Given the description of an element on the screen output the (x, y) to click on. 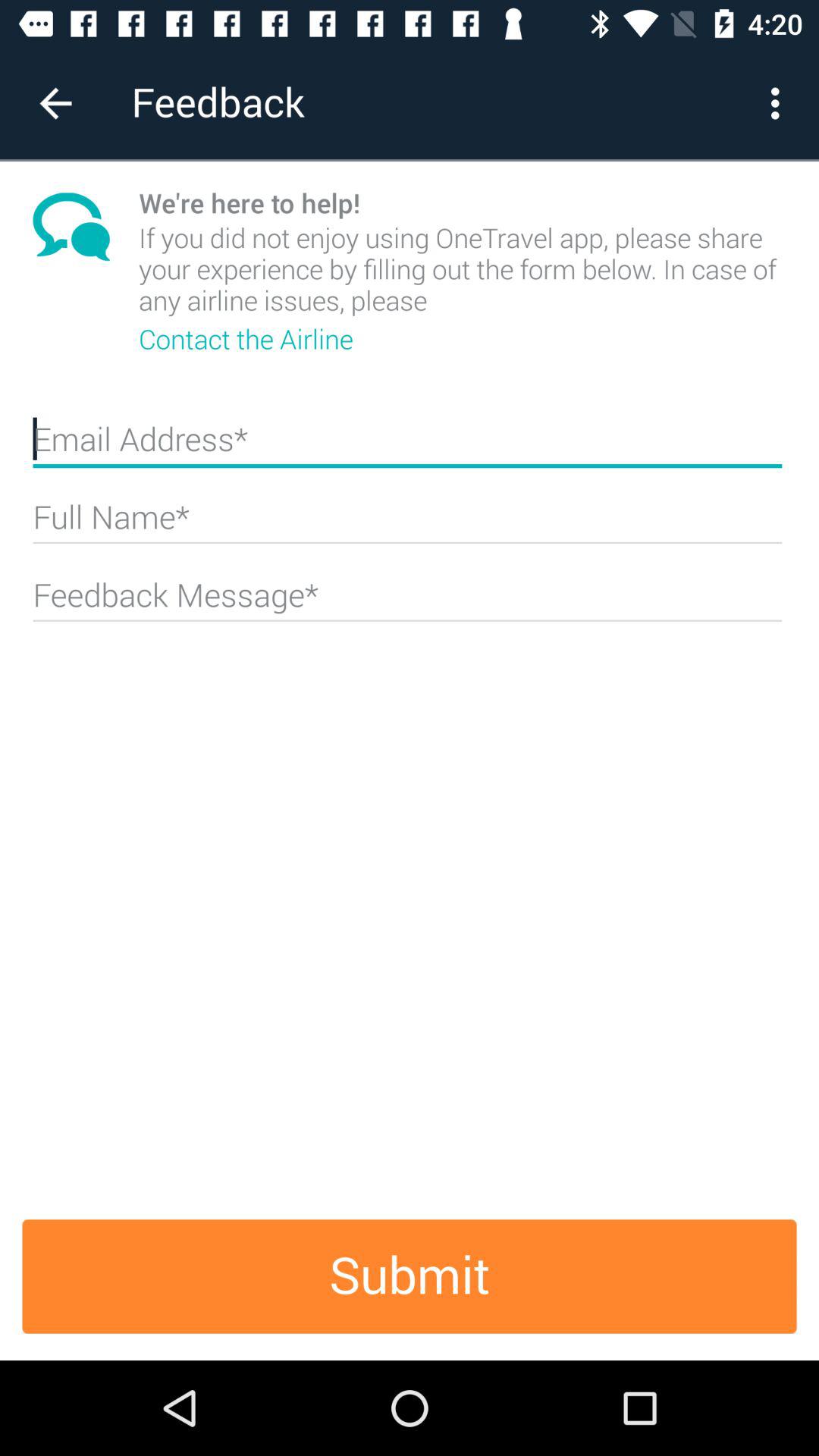
full name (407, 523)
